Given the description of an element on the screen output the (x, y) to click on. 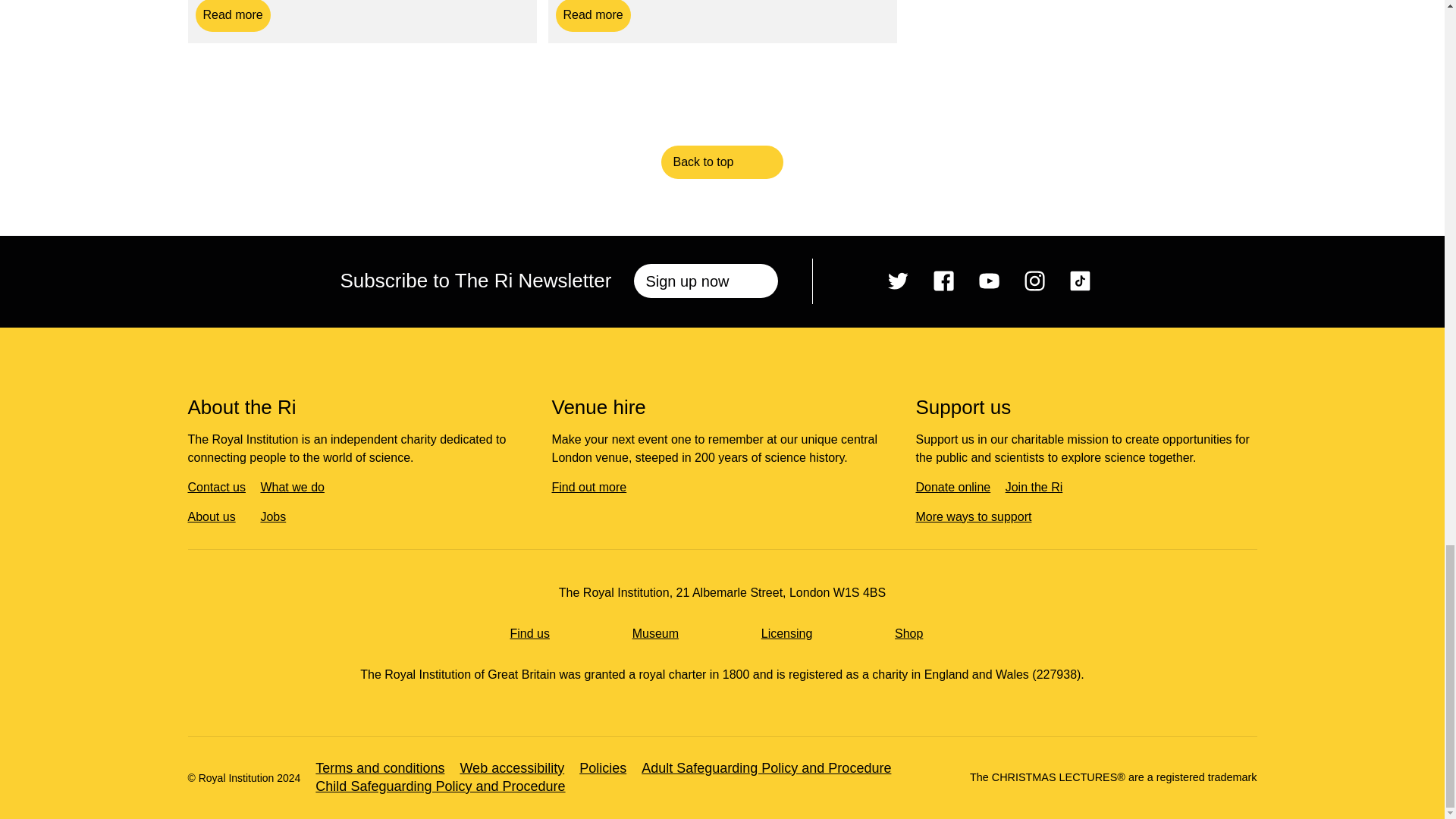
Open Twitter (897, 280)
Open Facebook (943, 280)
Open Michael Faraday's generator (232, 15)
Open A tour of Michael Faraday in London (232, 15)
Open Instagram (592, 15)
Open TikTok (1034, 280)
Terms and conditions (1079, 280)
Open YouTube (387, 768)
